Given the description of an element on the screen output the (x, y) to click on. 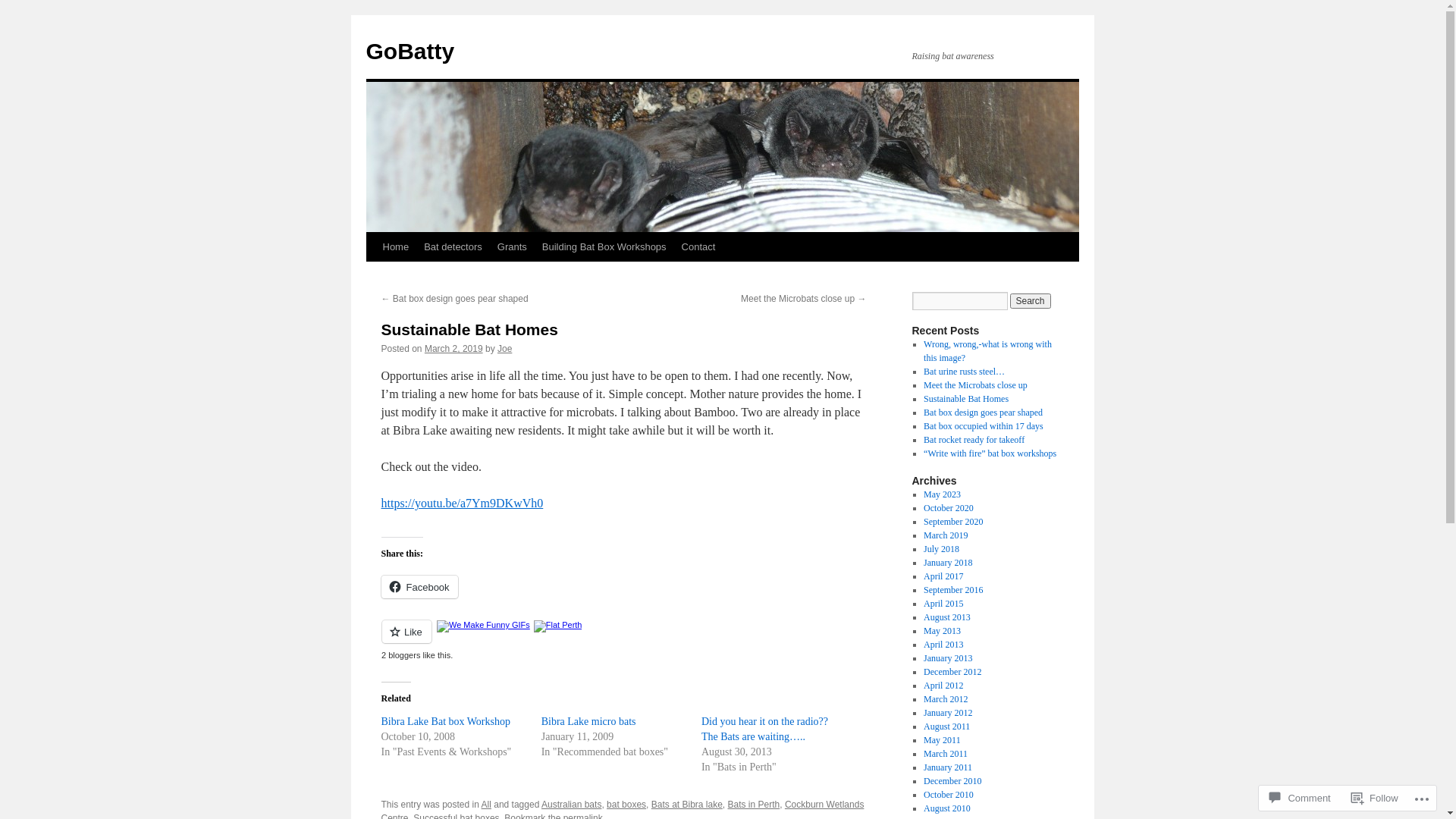
October 2020 Element type: text (948, 507)
Grants Element type: text (511, 246)
April 2017 Element type: text (943, 576)
September 2016 Element type: text (952, 589)
GoBatty Element type: text (409, 50)
March 2, 2019 Element type: text (453, 348)
Wrong, wrong,-what is wrong with this image? Element type: text (987, 350)
Bat box occupied within 17 days Element type: text (983, 425)
Bibra Lake Bat box Workshop Element type: text (444, 721)
Australian bats Element type: text (571, 804)
April 2015 Element type: text (943, 603)
October 2010 Element type: text (948, 794)
Sustainable Bat Homes Element type: text (468, 329)
Bat box design goes pear shaped Element type: text (982, 412)
August 2010 Element type: text (946, 808)
May 2023 Element type: text (941, 494)
Facebook Element type: text (418, 586)
January 2012 Element type: text (947, 712)
July 2018 Element type: text (941, 548)
March 2012 Element type: text (945, 698)
December 2010 Element type: text (952, 780)
March 2019 Element type: text (945, 535)
Home Element type: text (395, 246)
Bat detectors Element type: text (452, 246)
Sustainable Bat Homes Element type: text (965, 398)
December 2012 Element type: text (952, 671)
August 2011 Element type: text (946, 726)
Bibra Lake micro bats Element type: text (588, 721)
January 2018 Element type: text (947, 562)
Comment Element type: text (1299, 797)
Bat rocket ready for takeoff Element type: text (973, 439)
January 2013 Element type: text (947, 657)
Meet the Microbats close up Element type: text (975, 384)
August 2013 Element type: text (946, 616)
April 2012 Element type: text (943, 685)
All Element type: text (486, 804)
Building Bat Box Workshops Element type: text (604, 246)
March 2011 Element type: text (945, 753)
April 2013 Element type: text (943, 644)
https://youtu.be/a7Ym9DKwVh0 Element type: text (461, 502)
Follow Element type: text (1374, 797)
Bats in Perth Element type: text (754, 804)
Like or Reblog Element type: hover (623, 640)
May 2011 Element type: text (941, 739)
May 2013 Element type: text (941, 630)
January 2011 Element type: text (947, 767)
bat boxes Element type: text (626, 804)
Joe Element type: text (504, 348)
Contact Element type: text (698, 246)
Bats at Bibra lake Element type: text (686, 804)
September 2020 Element type: text (952, 521)
Search Element type: text (1030, 300)
